Given the description of an element on the screen output the (x, y) to click on. 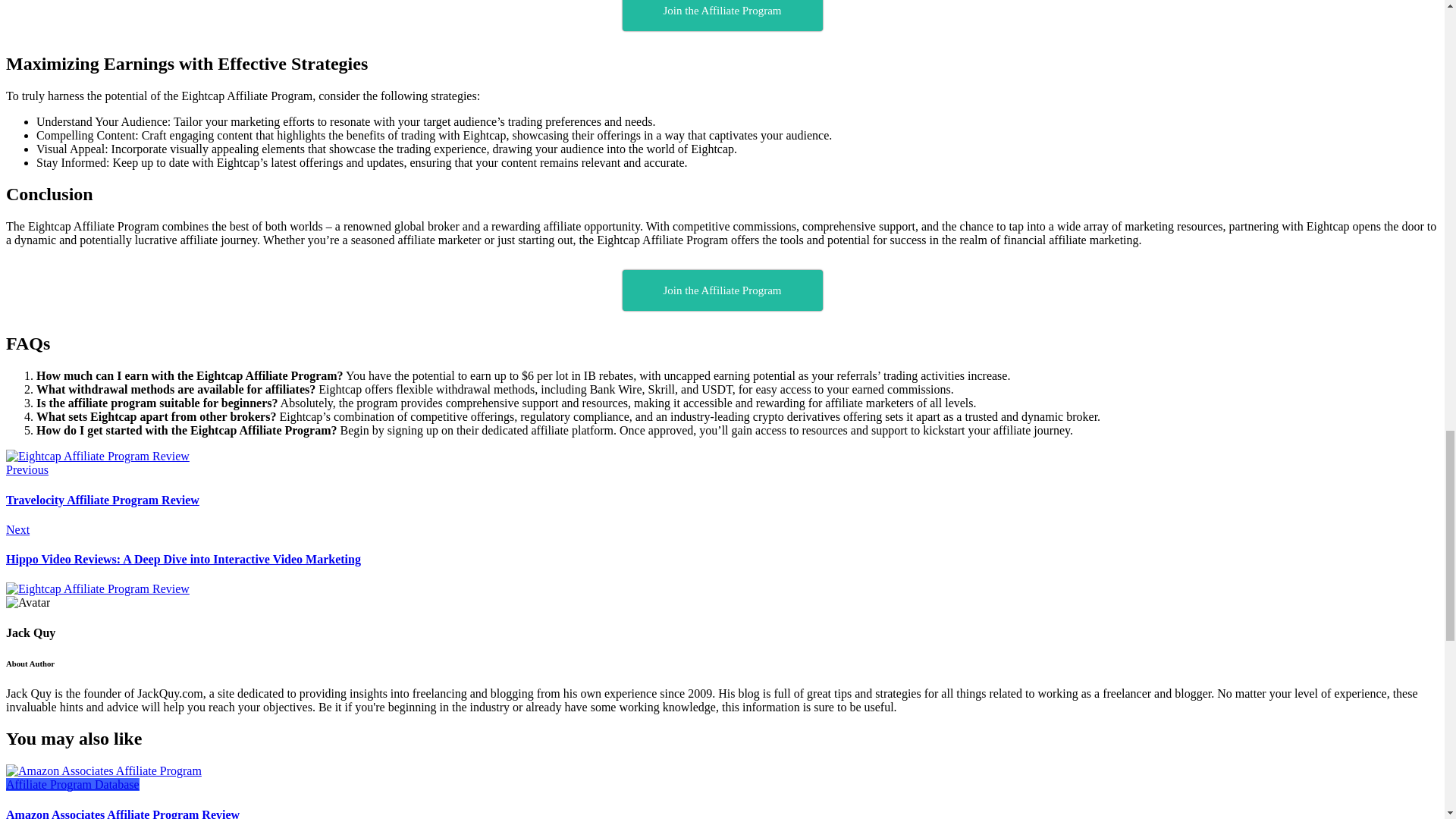
Join the Affiliate Program (721, 15)
Join the Affiliate Program (721, 290)
Join the Affiliate Program (721, 15)
Amazon Associates Affiliate Program Review 2 (103, 771)
